Given the description of an element on the screen output the (x, y) to click on. 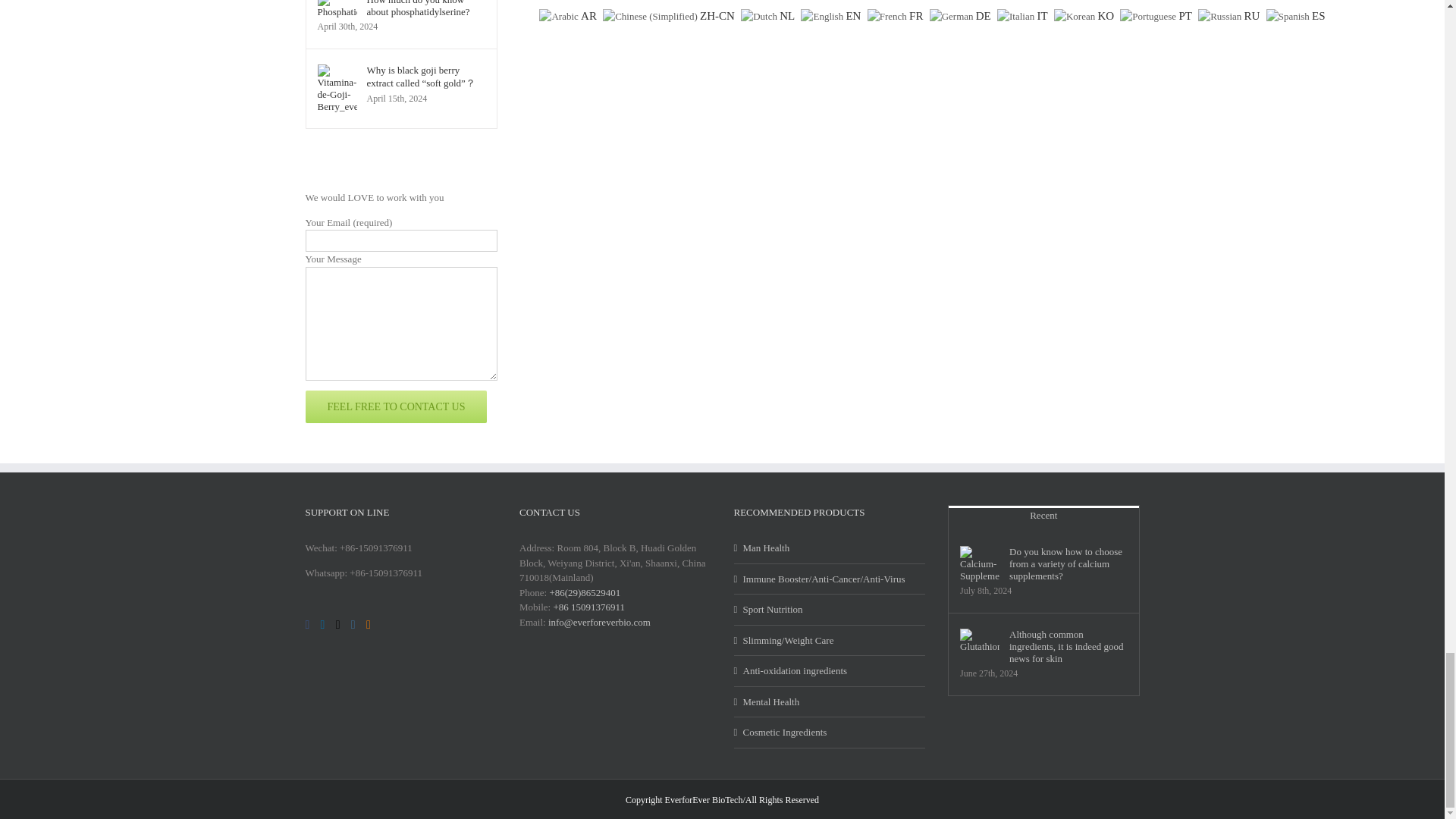
feel free to contact us (395, 406)
